Given the description of an element on the screen output the (x, y) to click on. 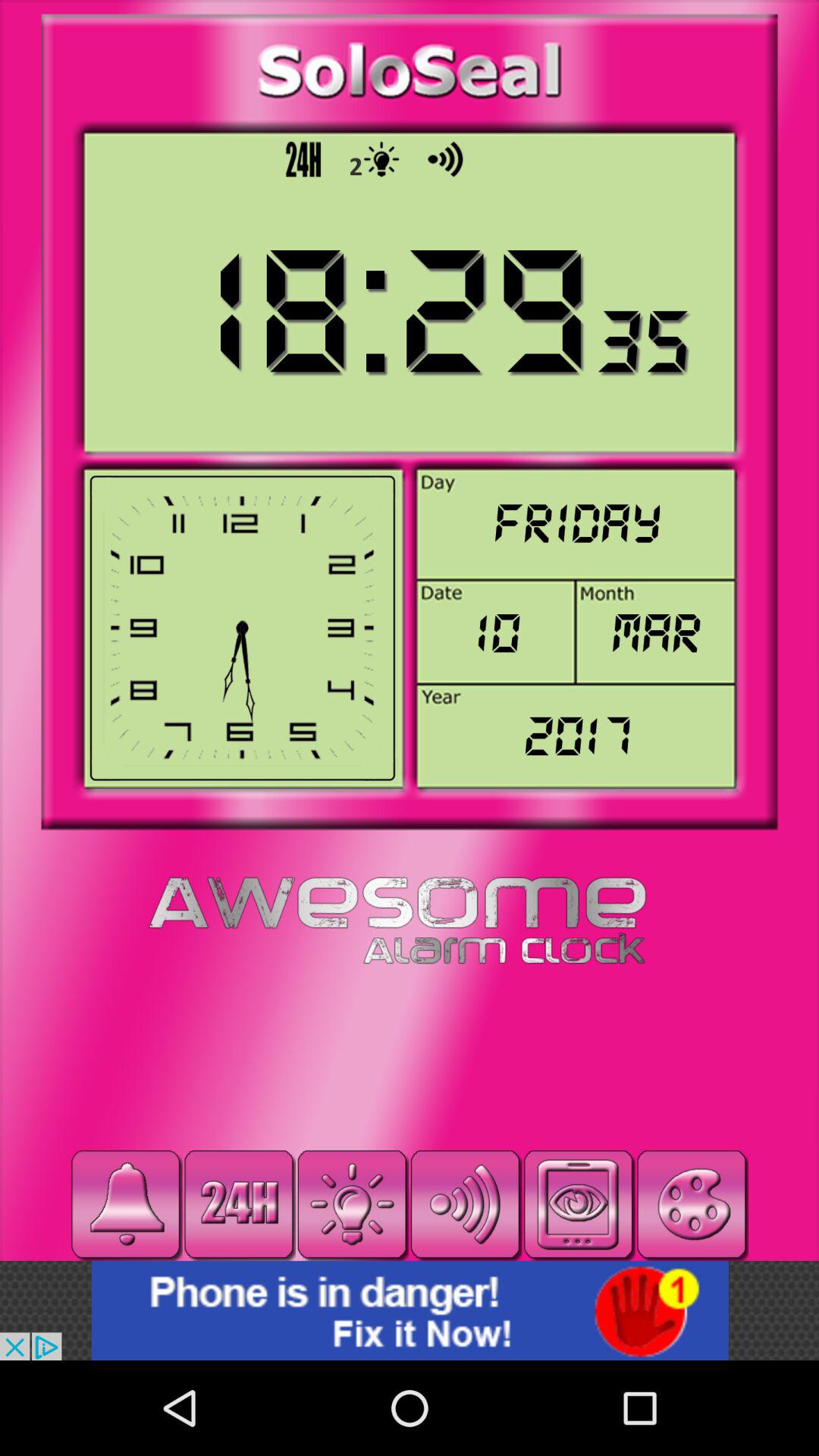
24 hour (238, 1203)
